Given the description of an element on the screen output the (x, y) to click on. 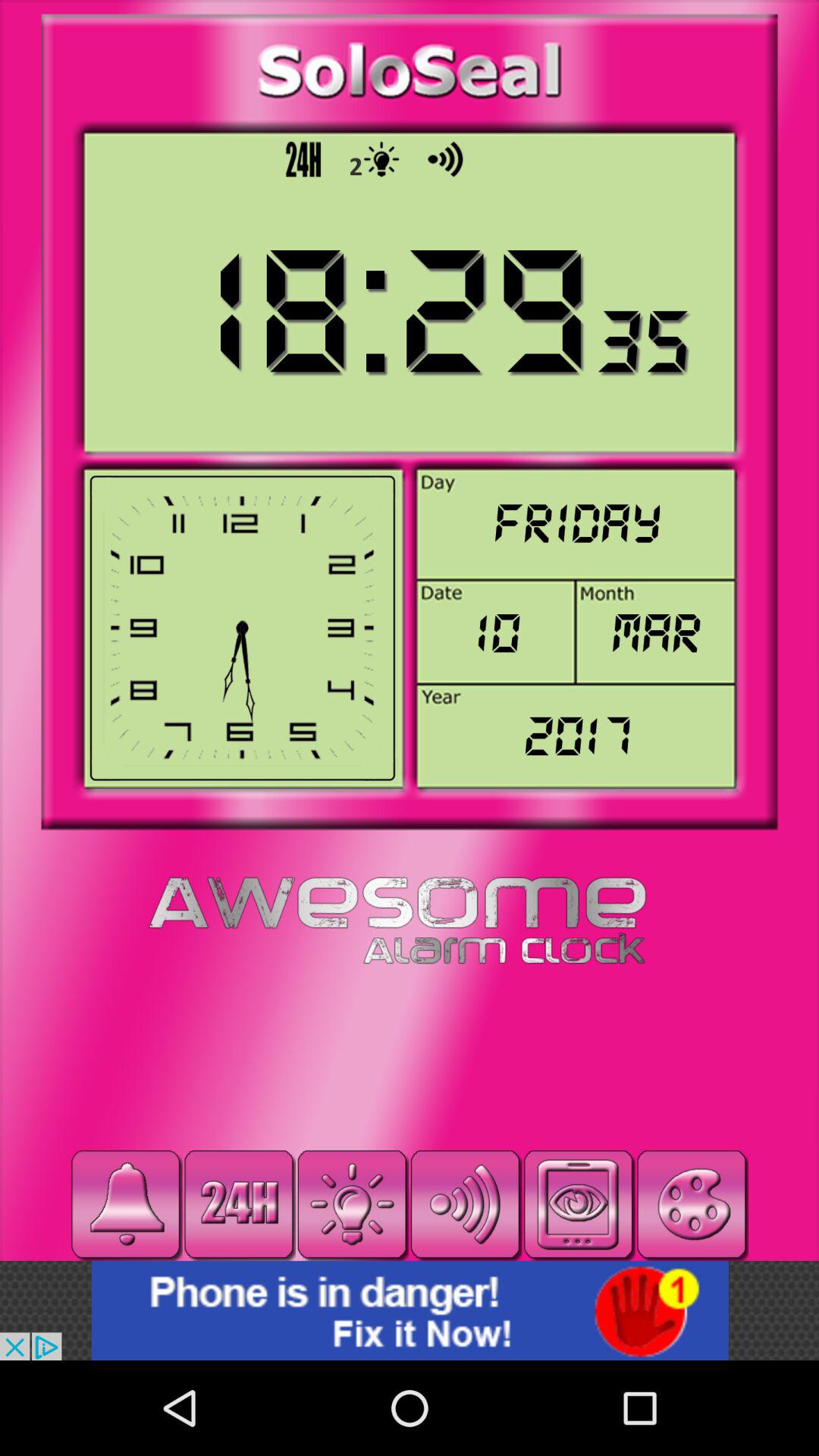
24 hour (238, 1203)
